Given the description of an element on the screen output the (x, y) to click on. 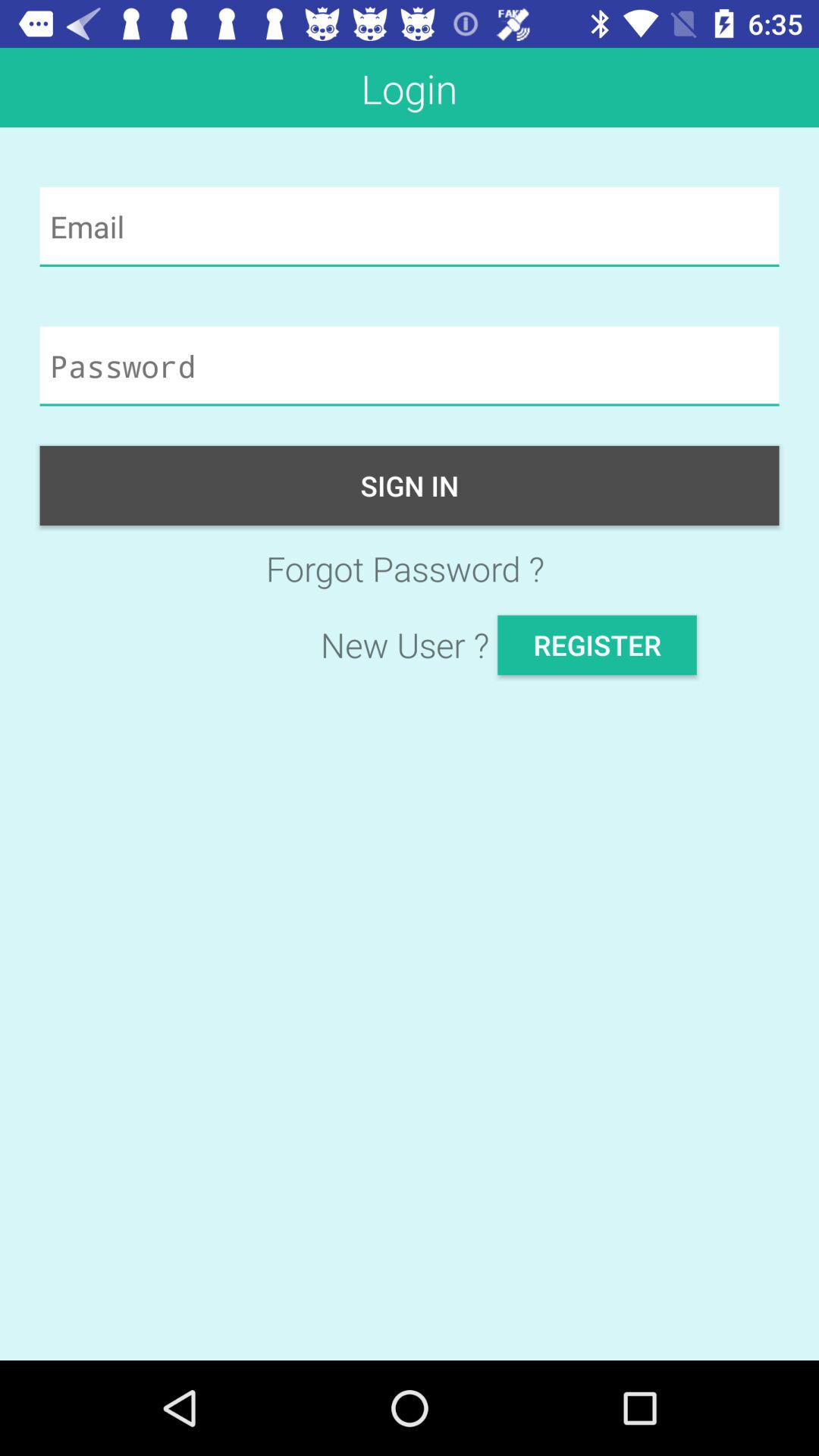
select the item next to new user ?  app (596, 645)
